Given the description of an element on the screen output the (x, y) to click on. 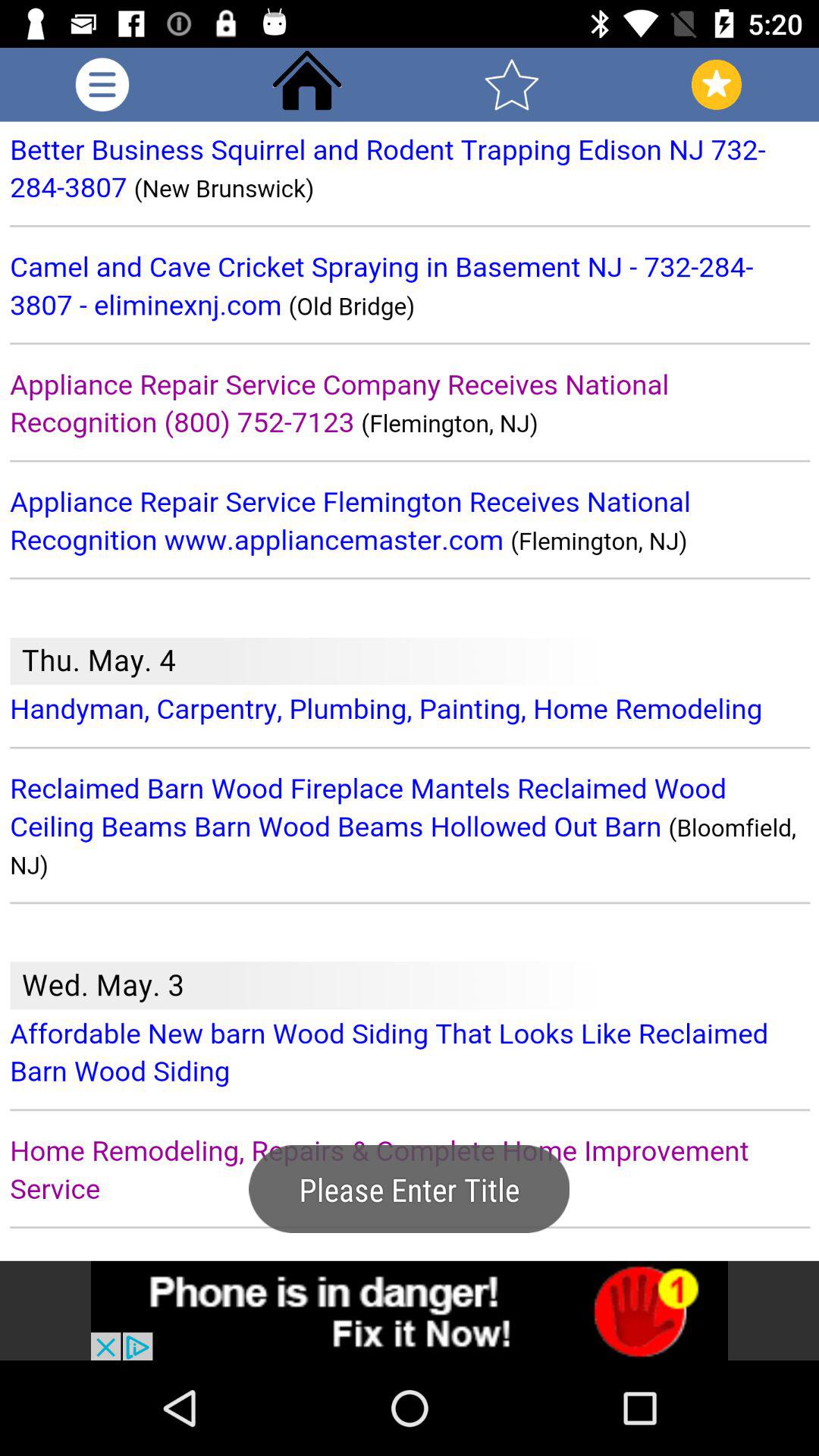
visit sponsor advertisement (409, 1310)
